Given the description of an element on the screen output the (x, y) to click on. 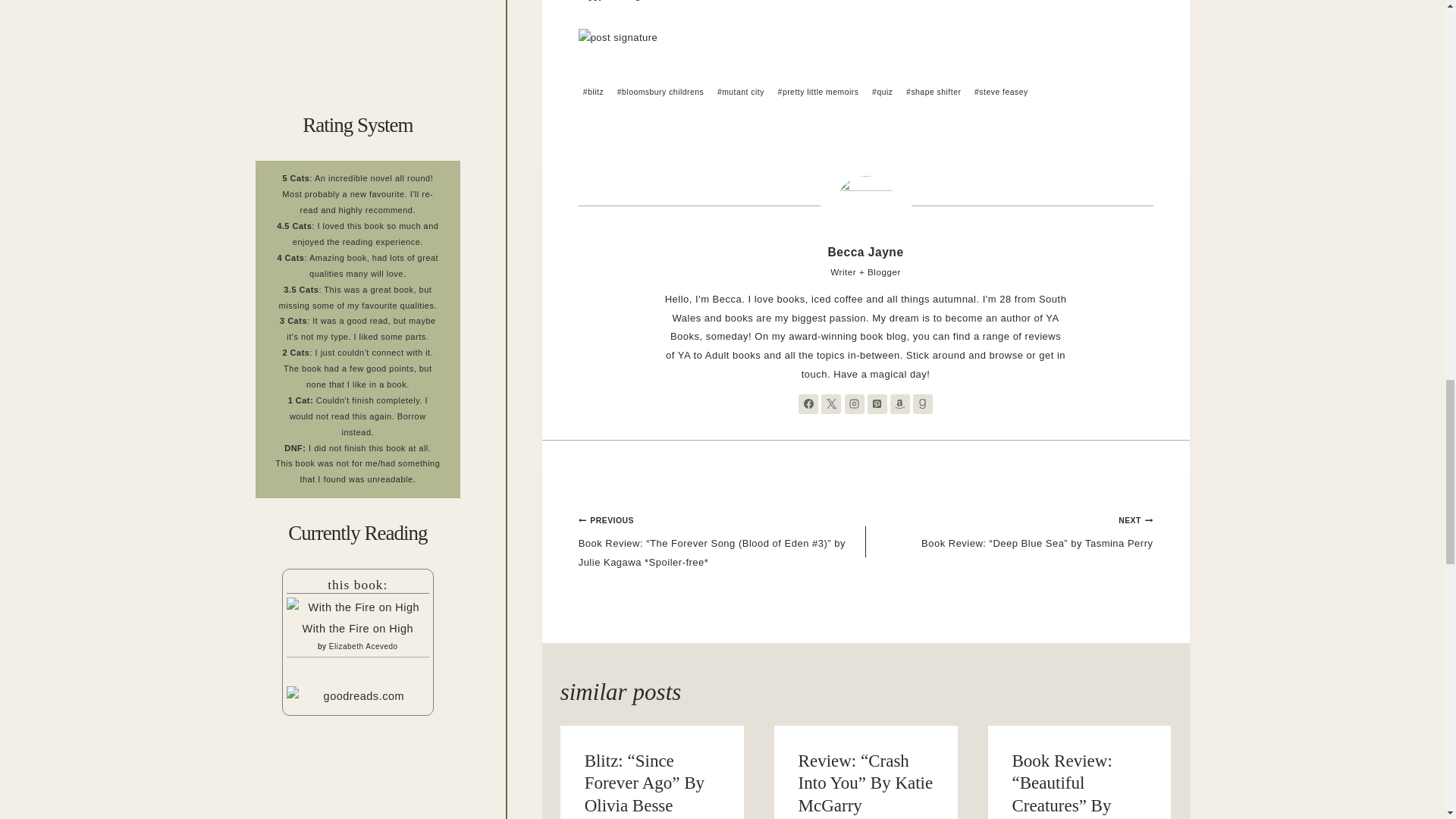
Follow Becca Jayne on Pinterest (876, 403)
Follow Becca Jayne on Facebook (807, 403)
shape shifter (933, 92)
Posts by Becca Jayne (866, 251)
Follow Becca Jayne on Goodreads (922, 403)
blitz (593, 92)
mutant city (741, 92)
Follow Becca Jayne on Instagram (854, 403)
Follow Becca Jayne on X formerly Twitter (831, 403)
Follow Becca Jayne on Amazon (899, 403)
steve feasey (1000, 92)
With the Fire on High (357, 608)
pretty little memoirs (818, 92)
quiz (882, 92)
bloomsbury childrens (660, 92)
